Given the description of an element on the screen output the (x, y) to click on. 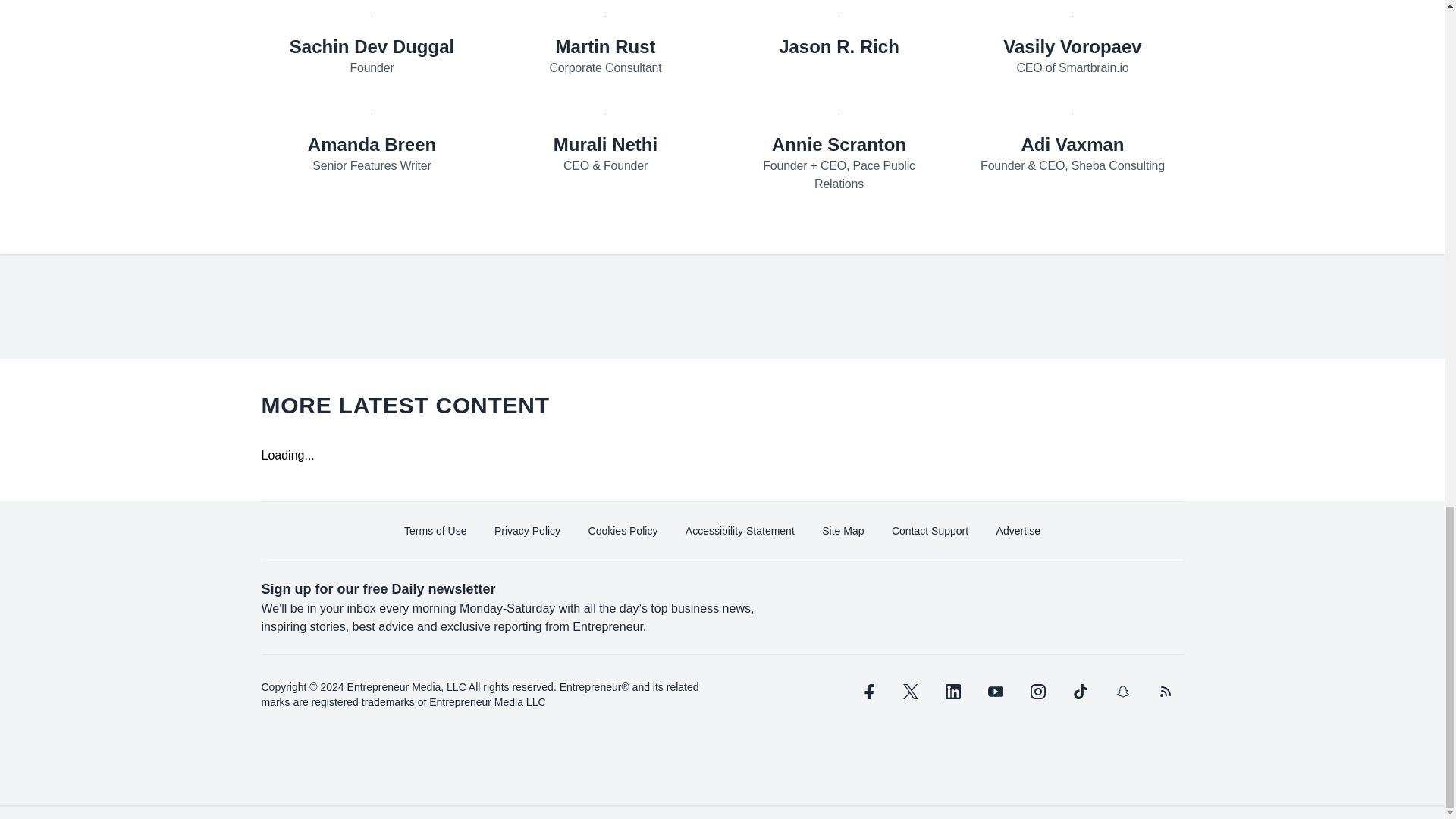
twitter (909, 691)
tiktok (1079, 691)
rss (1164, 691)
facebook (866, 691)
snapchat (1121, 691)
instagram (1037, 691)
youtube (994, 691)
linkedin (952, 691)
